Given the description of an element on the screen output the (x, y) to click on. 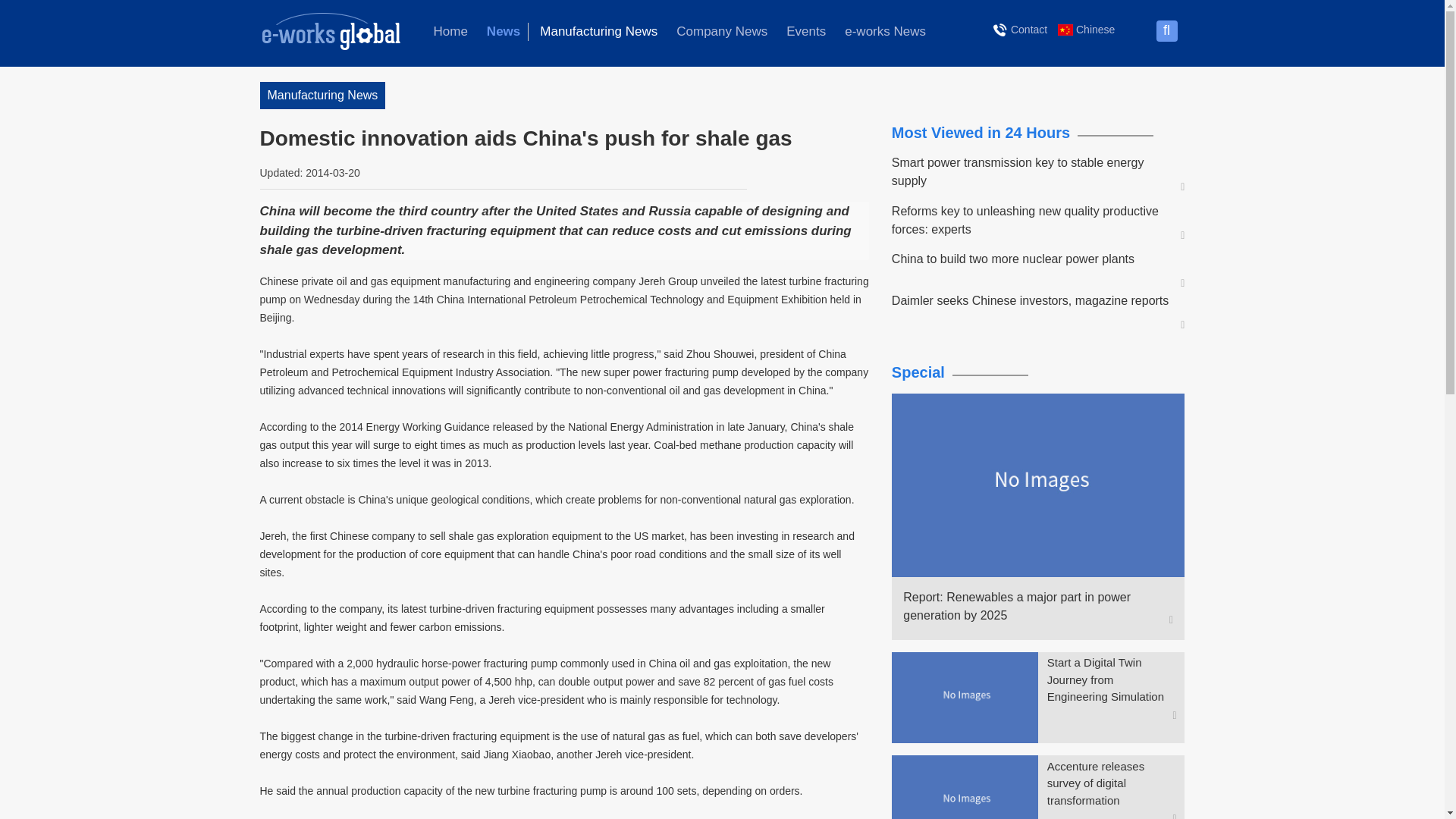
e-works News (885, 31)
Report: Renewables a major part in power generation by 2025 (1030, 606)
Chinese (1086, 29)
Events (805, 31)
Accenture releases survey of digital transformation (1111, 783)
Company News (721, 31)
News (503, 31)
Daimler seeks Chinese investors, magazine reports (1030, 300)
Smart power transmission key to stable energy supply (1030, 171)
